Given the description of an element on the screen output the (x, y) to click on. 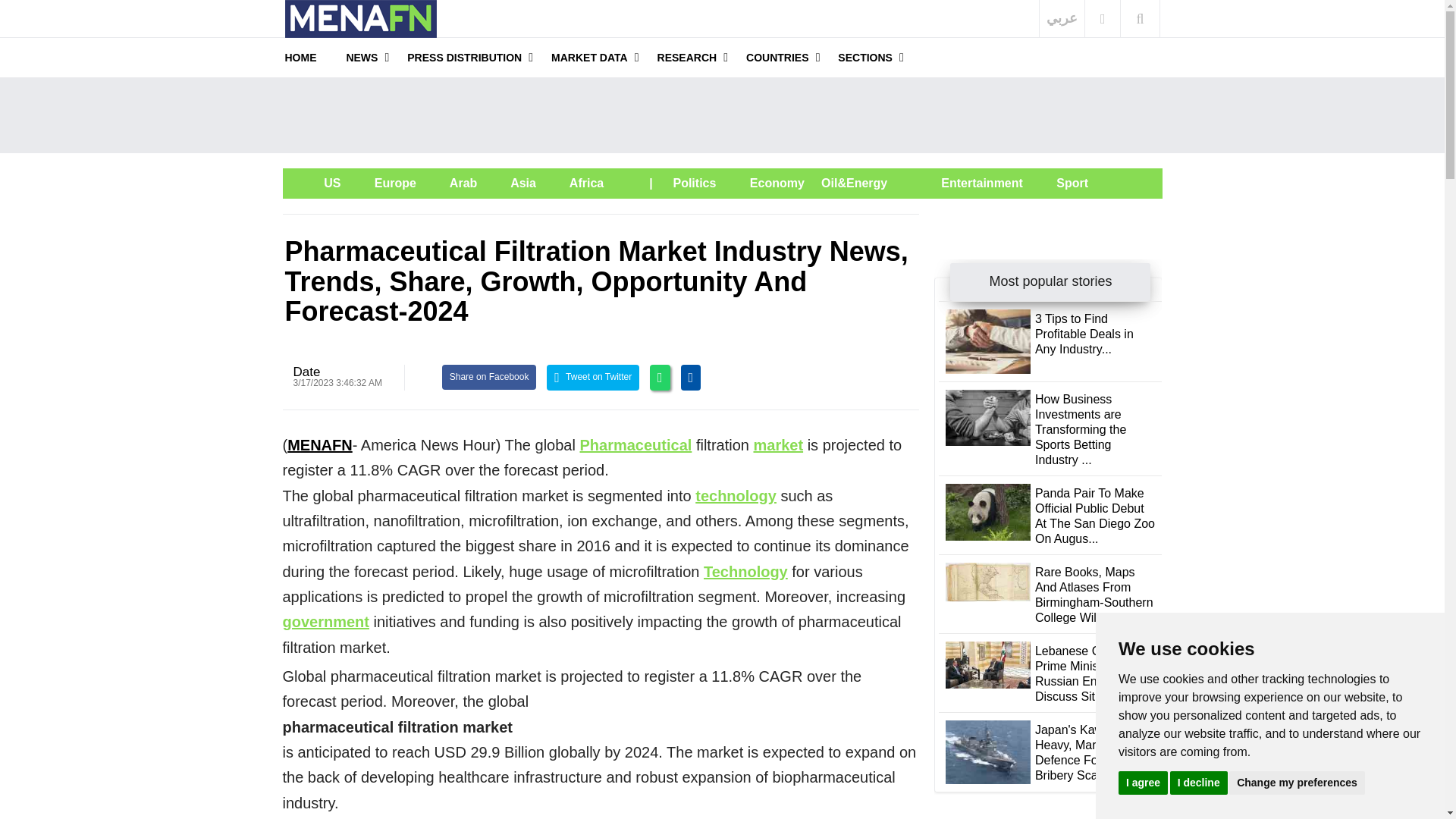
PRESS DISTRIBUTION (464, 56)
Posts by NewEdge (306, 371)
I agree (1142, 781)
I decline (1198, 781)
Change my preferences (1296, 781)
MARKET DATA (589, 56)
